Given the description of an element on the screen output the (x, y) to click on. 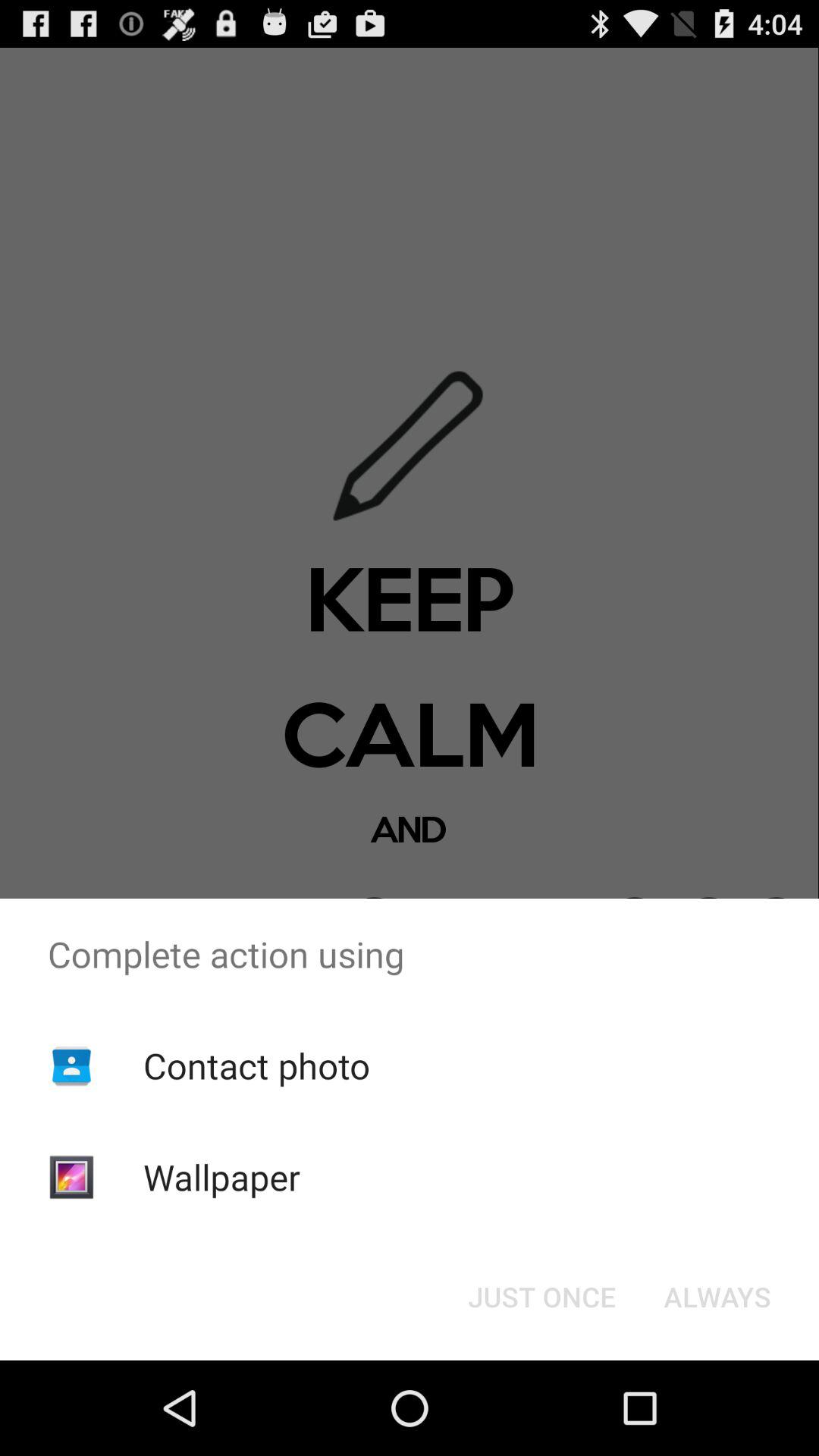
launch the icon at the bottom (541, 1296)
